Given the description of an element on the screen output the (x, y) to click on. 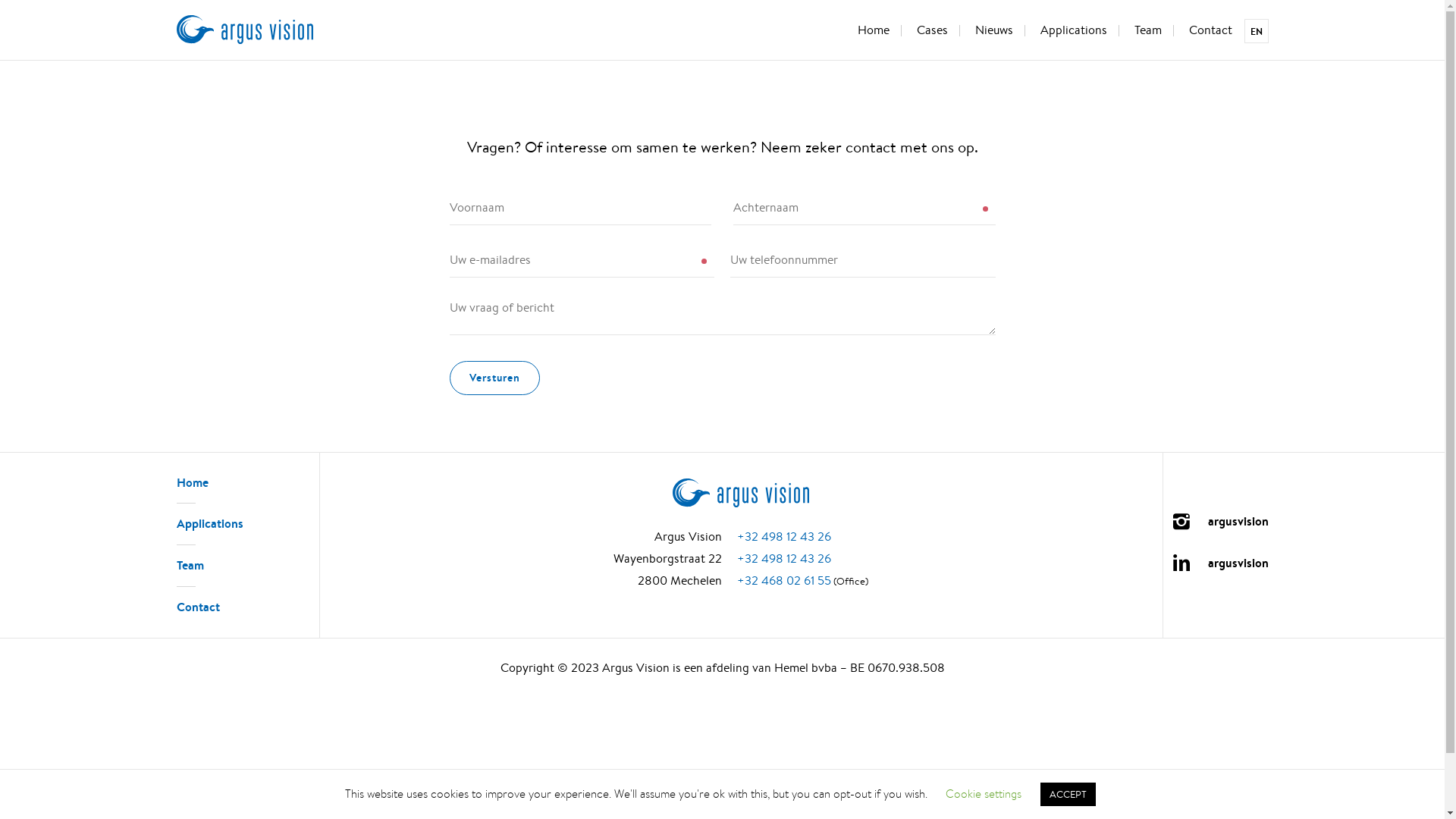
Team Element type: text (189, 564)
EN Element type: text (1255, 30)
+32 498 12 43 26 Element type: text (784, 558)
Argus Vision Element type: text (243, 29)
Contact Element type: text (1204, 31)
Applications Element type: text (208, 522)
Nieuws Element type: text (994, 31)
Applications Element type: text (1073, 31)
Cases Element type: text (931, 31)
ACCEPT Element type: text (1067, 794)
Argus Vision Element type: text (740, 492)
Versturen Element type: text (493, 377)
Home Element type: text (191, 481)
Cookie settings Element type: text (983, 793)
argusvision Element type: text (1215, 565)
Team Element type: text (1147, 31)
argusvision Element type: text (1215, 524)
Contact Element type: text (197, 606)
+32 498 12 43 26 Element type: text (784, 536)
+32 468 02 61 55 Element type: text (784, 580)
Home Element type: text (872, 31)
